Given the description of an element on the screen output the (x, y) to click on. 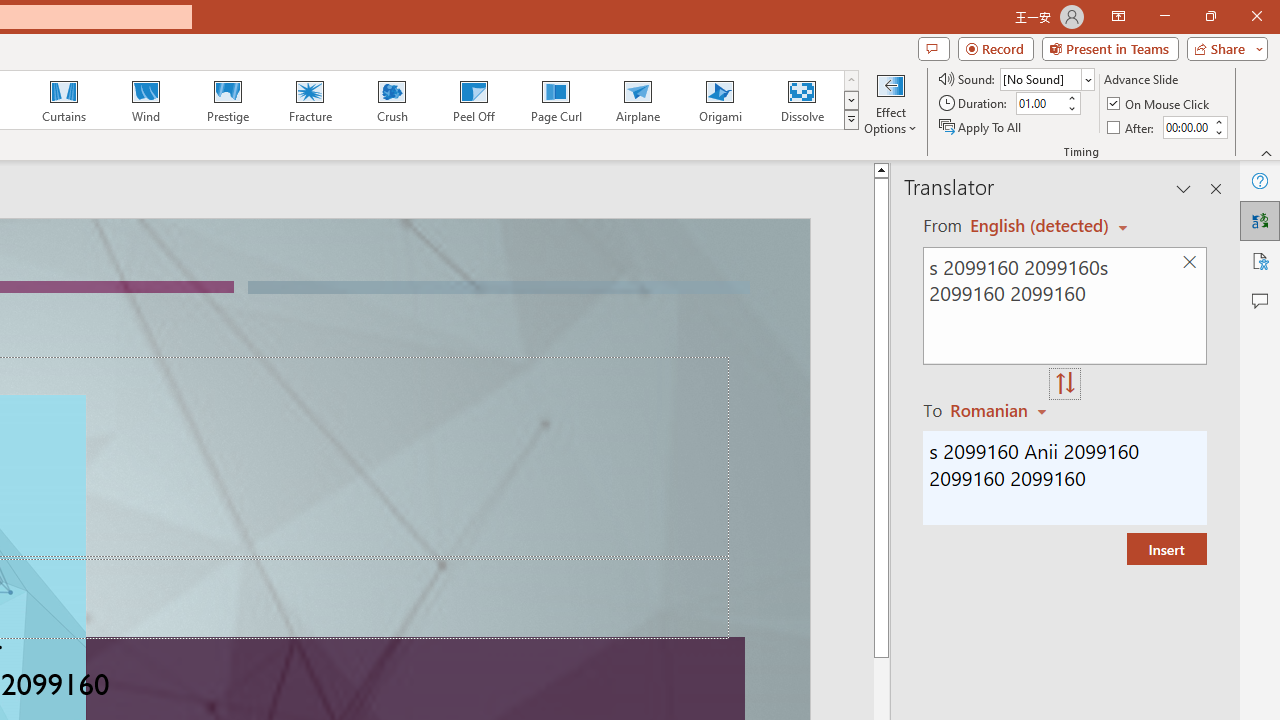
Line up (880, 169)
Row Down (850, 100)
Clear text (1189, 262)
